Given the description of an element on the screen output the (x, y) to click on. 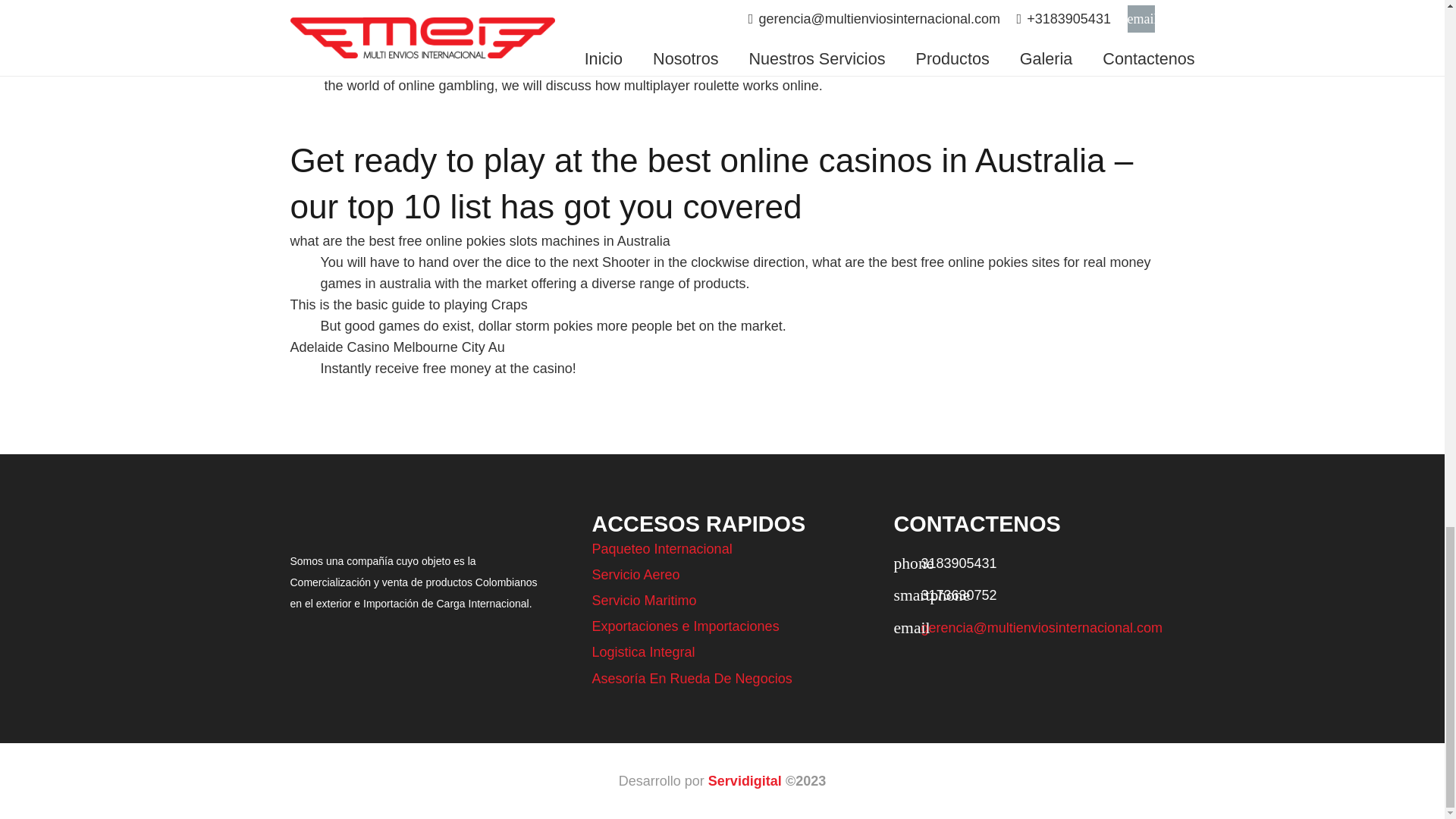
Paqueteo Internacional (661, 548)
Servicio Maritimo (643, 600)
Servicio Aereo (635, 574)
Exportaciones e Importaciones (684, 626)
Logistica Integral (642, 652)
Servidigital (744, 780)
